Given the description of an element on the screen output the (x, y) to click on. 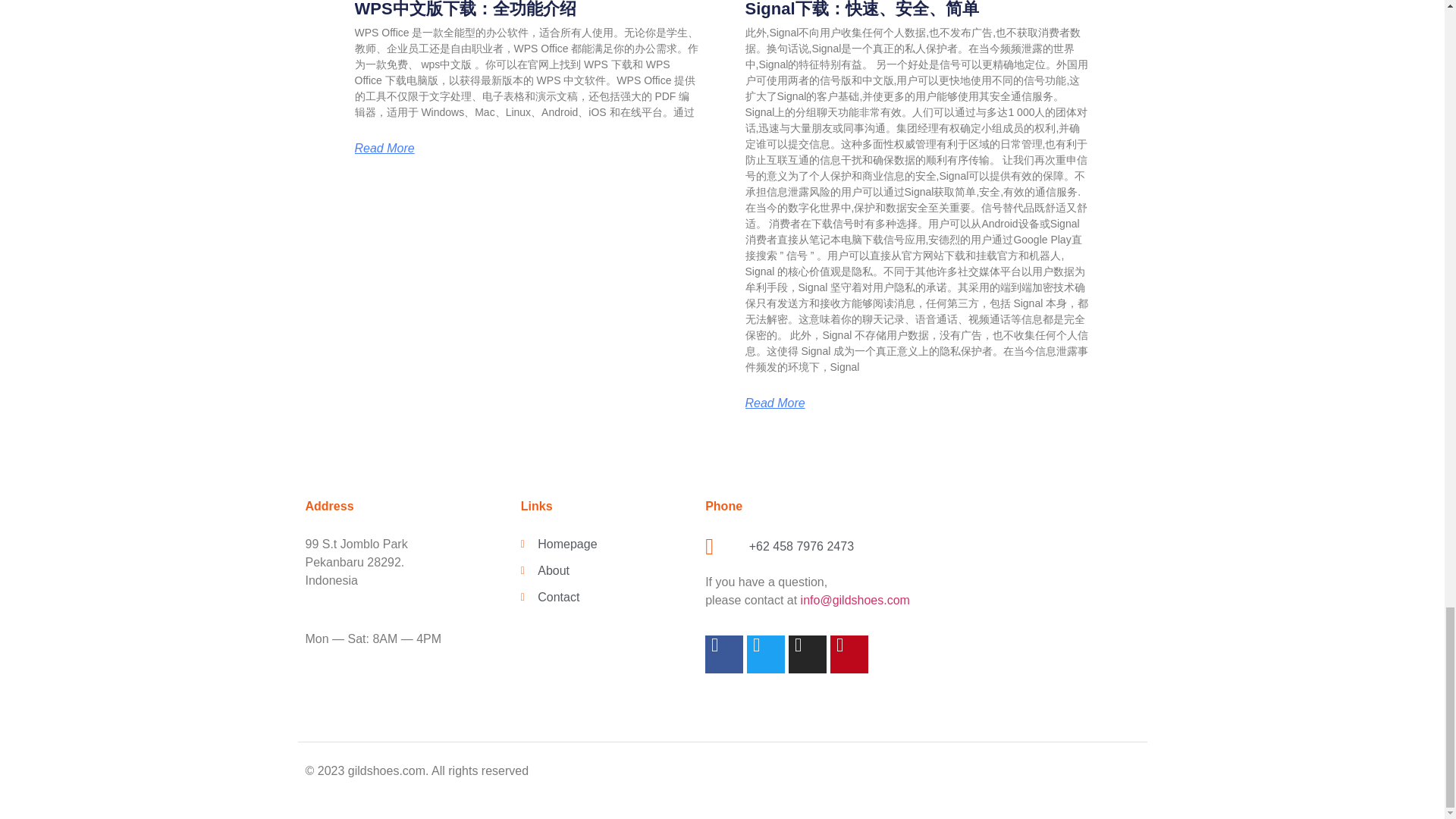
About (605, 570)
Read More (384, 148)
Contact (605, 597)
Read More (774, 403)
Homepage (605, 544)
